Given the description of an element on the screen output the (x, y) to click on. 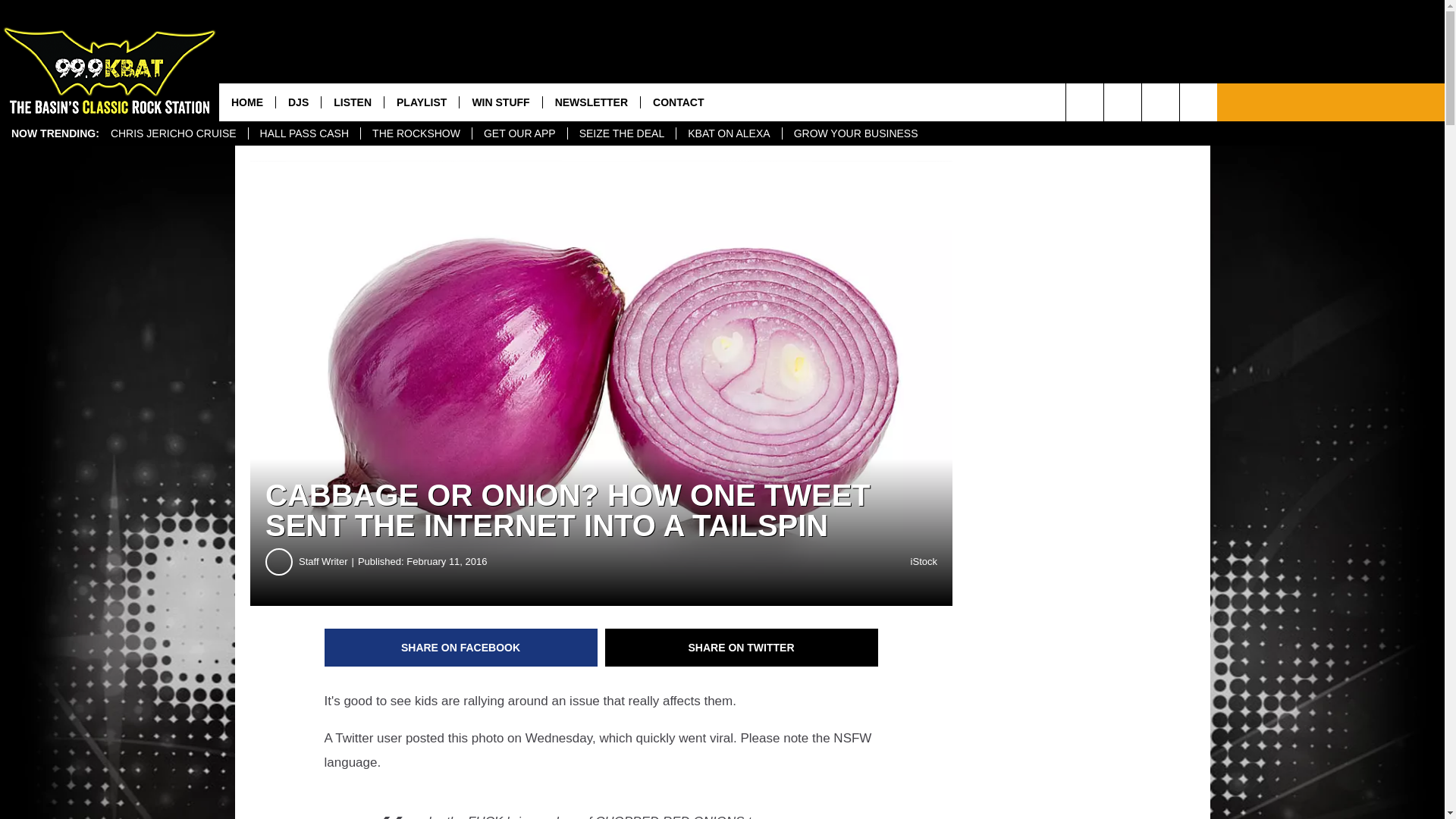
PLAYLIST (421, 102)
SEIZE THE DEAL (622, 133)
CHRIS JERICHO CRUISE (173, 133)
THE ROCKSHOW (415, 133)
Share on Twitter (741, 647)
HOME (247, 102)
CONTACT (678, 102)
GET OUR APP (519, 133)
KBAT ON ALEXA (727, 133)
GROW YOUR BUSINESS (855, 133)
